Given the description of an element on the screen output the (x, y) to click on. 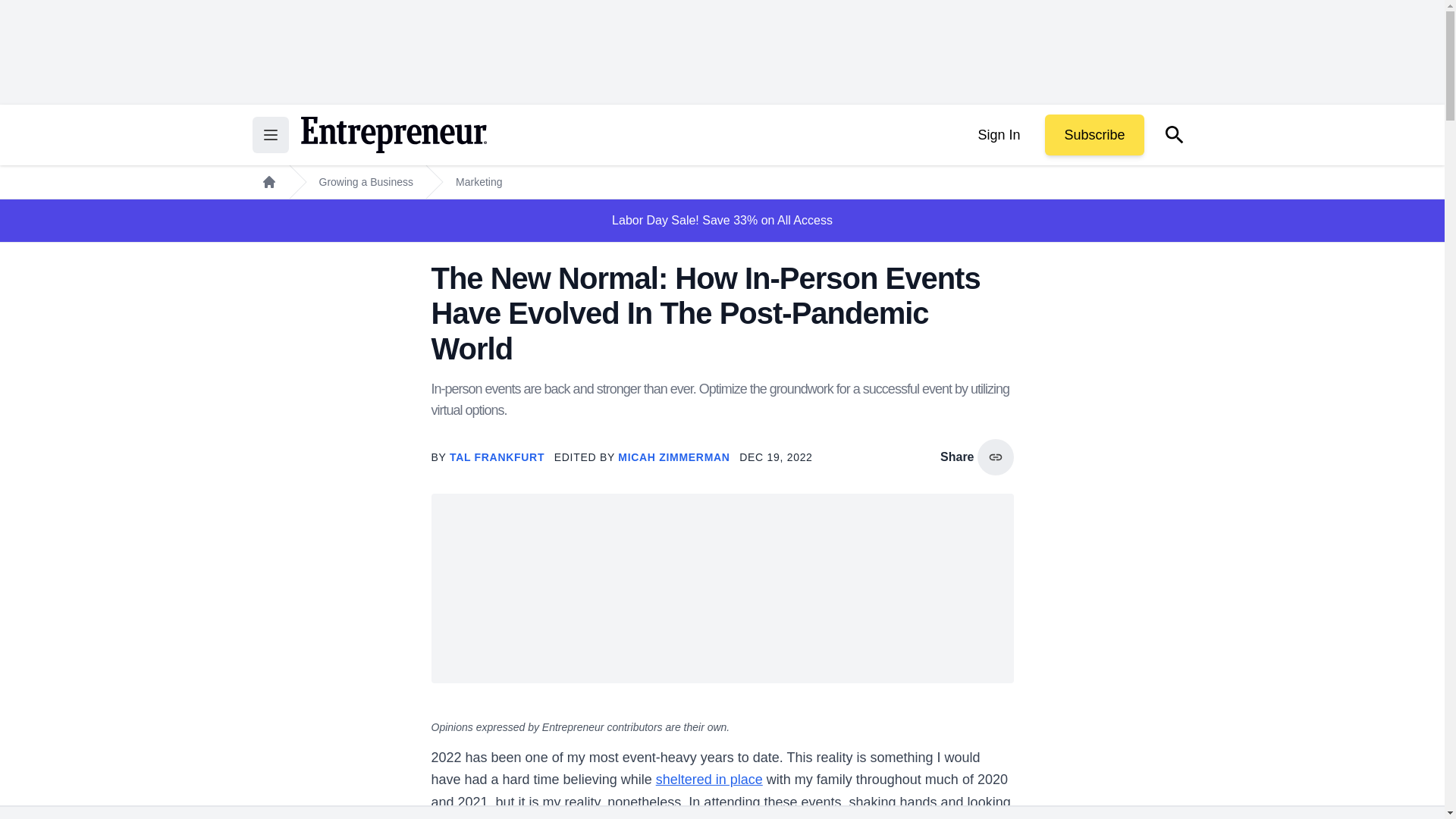
Return to the home page (392, 135)
Sign In (998, 134)
Subscribe (1093, 134)
copy (994, 456)
